Given the description of an element on the screen output the (x, y) to click on. 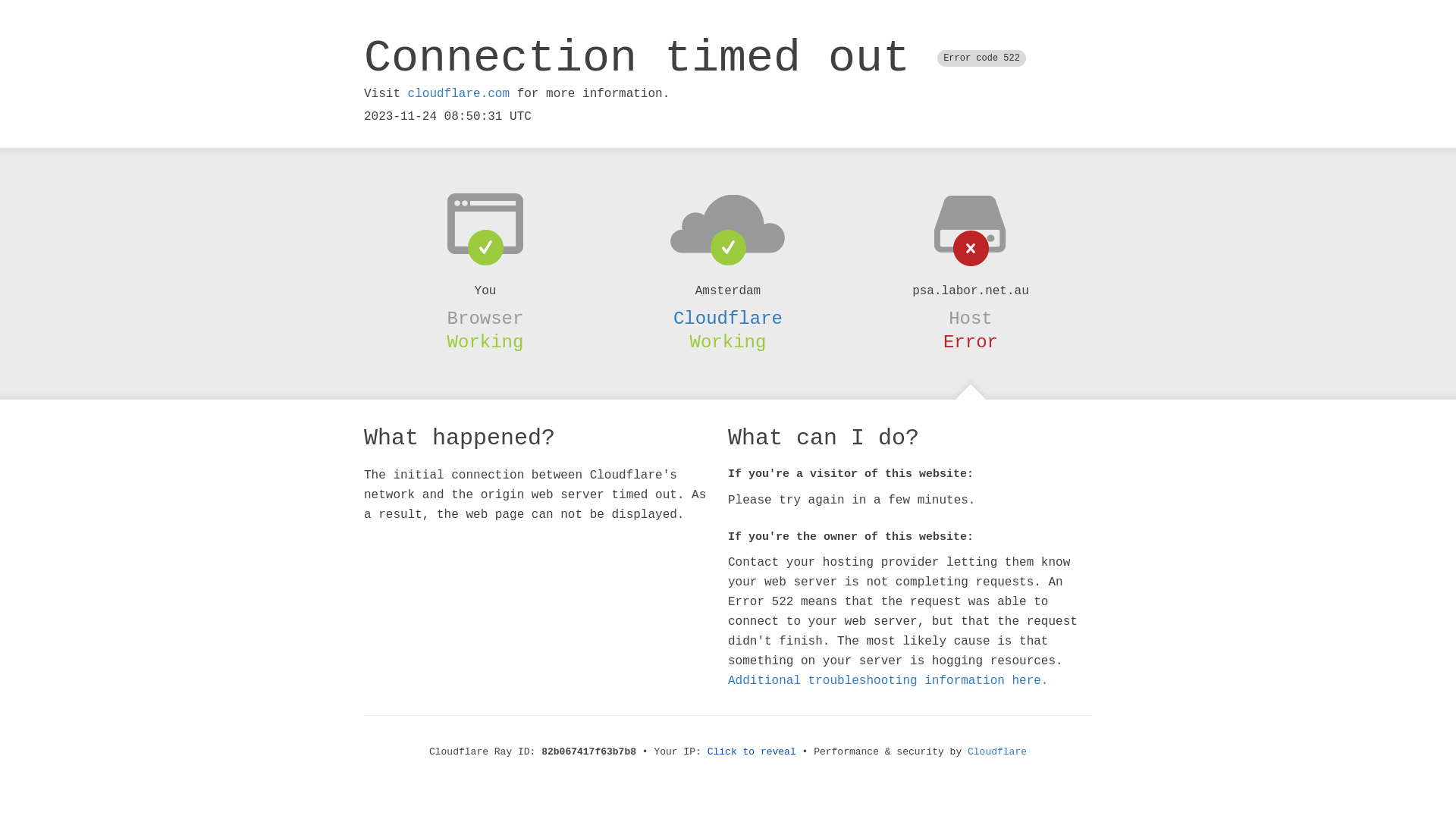
cloudflare.com Element type: text (458, 93)
Cloudflare Element type: text (727, 318)
Cloudflare Element type: text (996, 751)
Click to reveal Element type: text (751, 751)
Additional troubleshooting information here. Element type: text (888, 680)
